Given the description of an element on the screen output the (x, y) to click on. 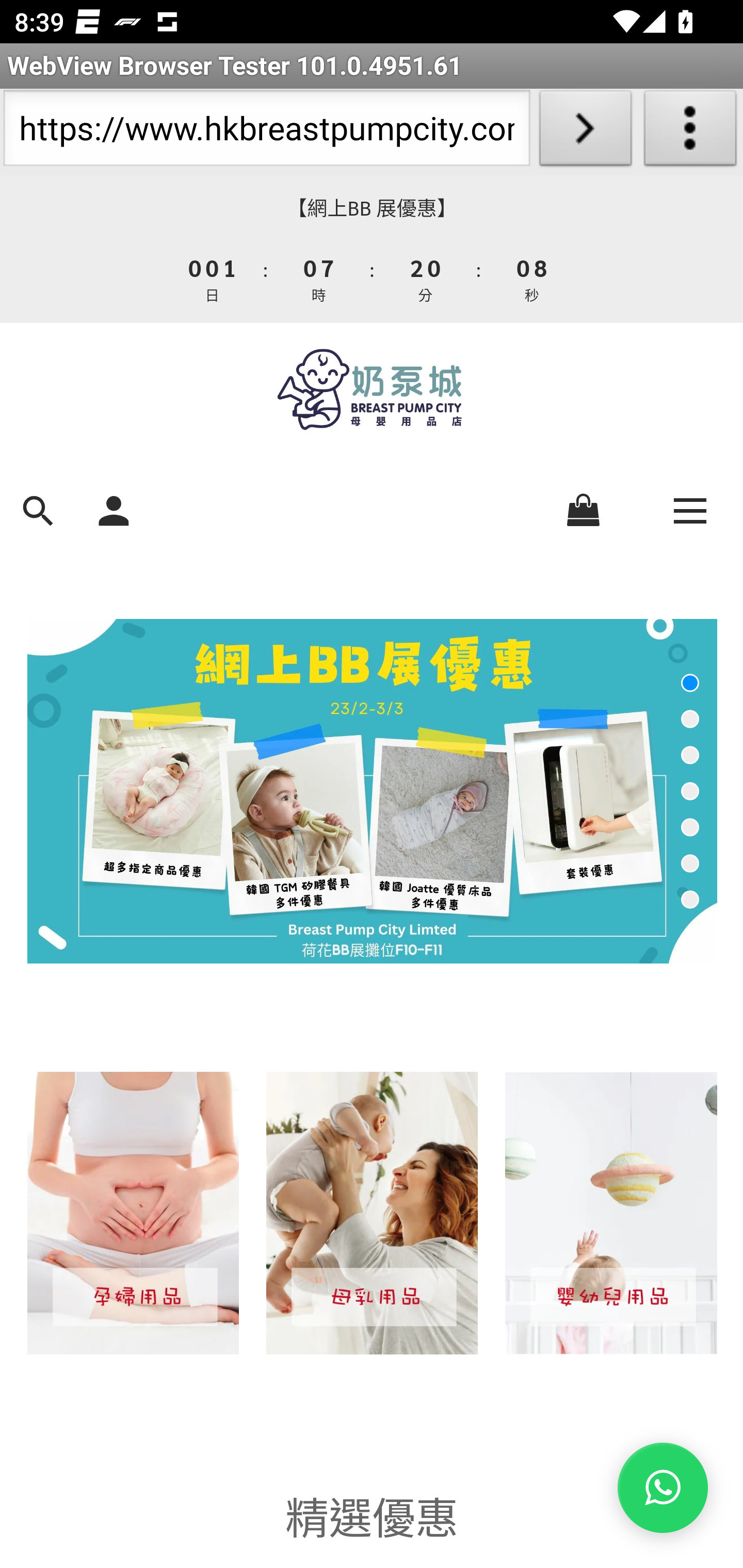
Load URL (585, 132)
About WebView (690, 132)
【網上BB 展優惠】 (371, 208)
3 2 1 0 3 2 1 0 4 3 2 1 0 日 (213, 277)
3 2 1 0 9 8 7 6 5 4 3 2 1 0 時 (318, 277)
5 4 3 2 1 0 3 2 1 0 分 (425, 277)
3 2 1 0 9 8 7 6 5 4 3 2 1 0 秒 (530, 277)
594x (371, 389)
sign_in (113, 508)
•  baby-fair-sales (371, 790)
%E5%AA%BD%E5%AA%BD%E7%94%A8%E5%93%81 (132, 1213)
精選優惠 (371, 1514)
